Given the description of an element on the screen output the (x, y) to click on. 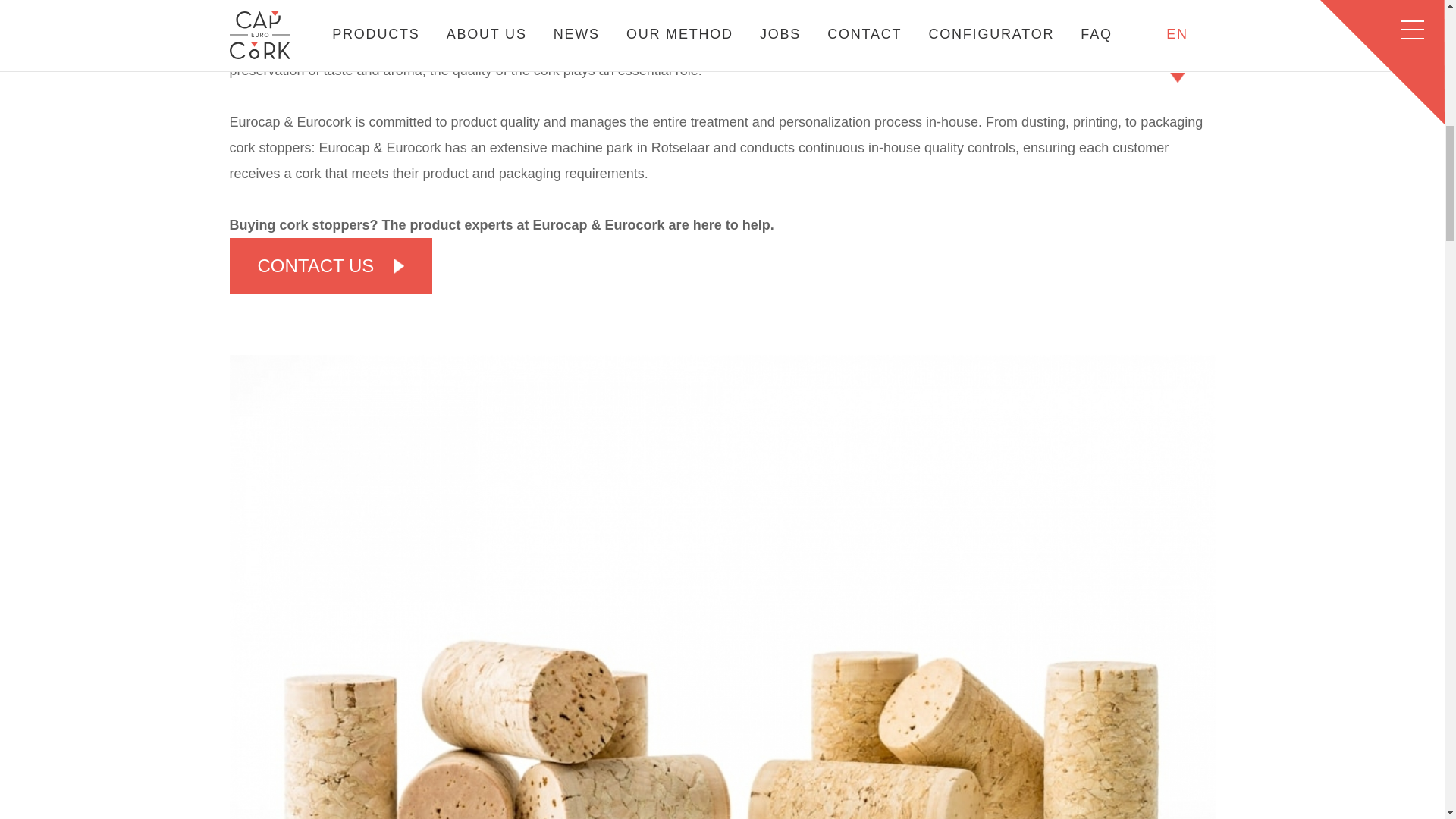
CONTACT US (330, 266)
